Given the description of an element on the screen output the (x, y) to click on. 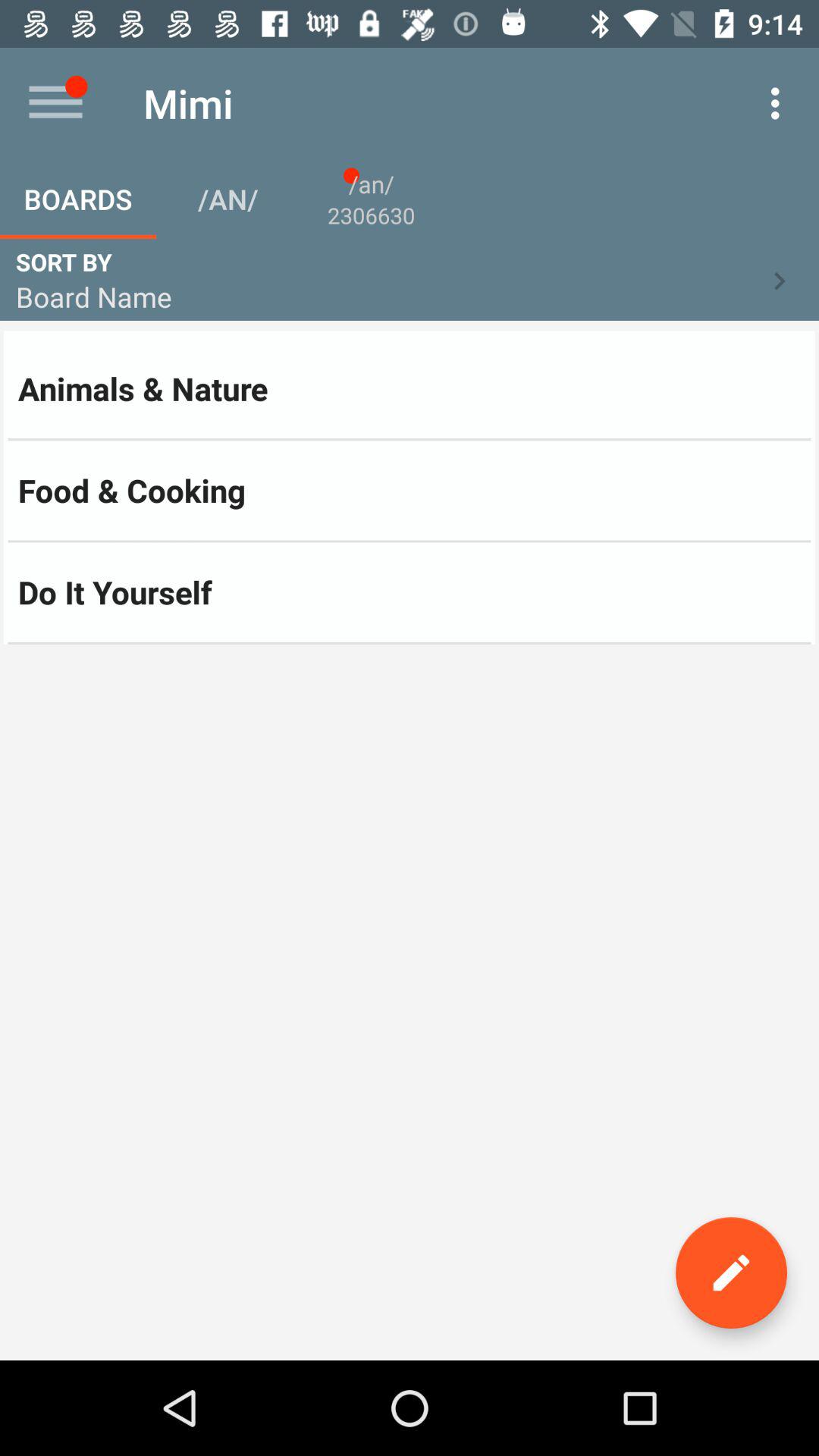
tap the item to the left of the mimi (55, 103)
